Given the description of an element on the screen output the (x, y) to click on. 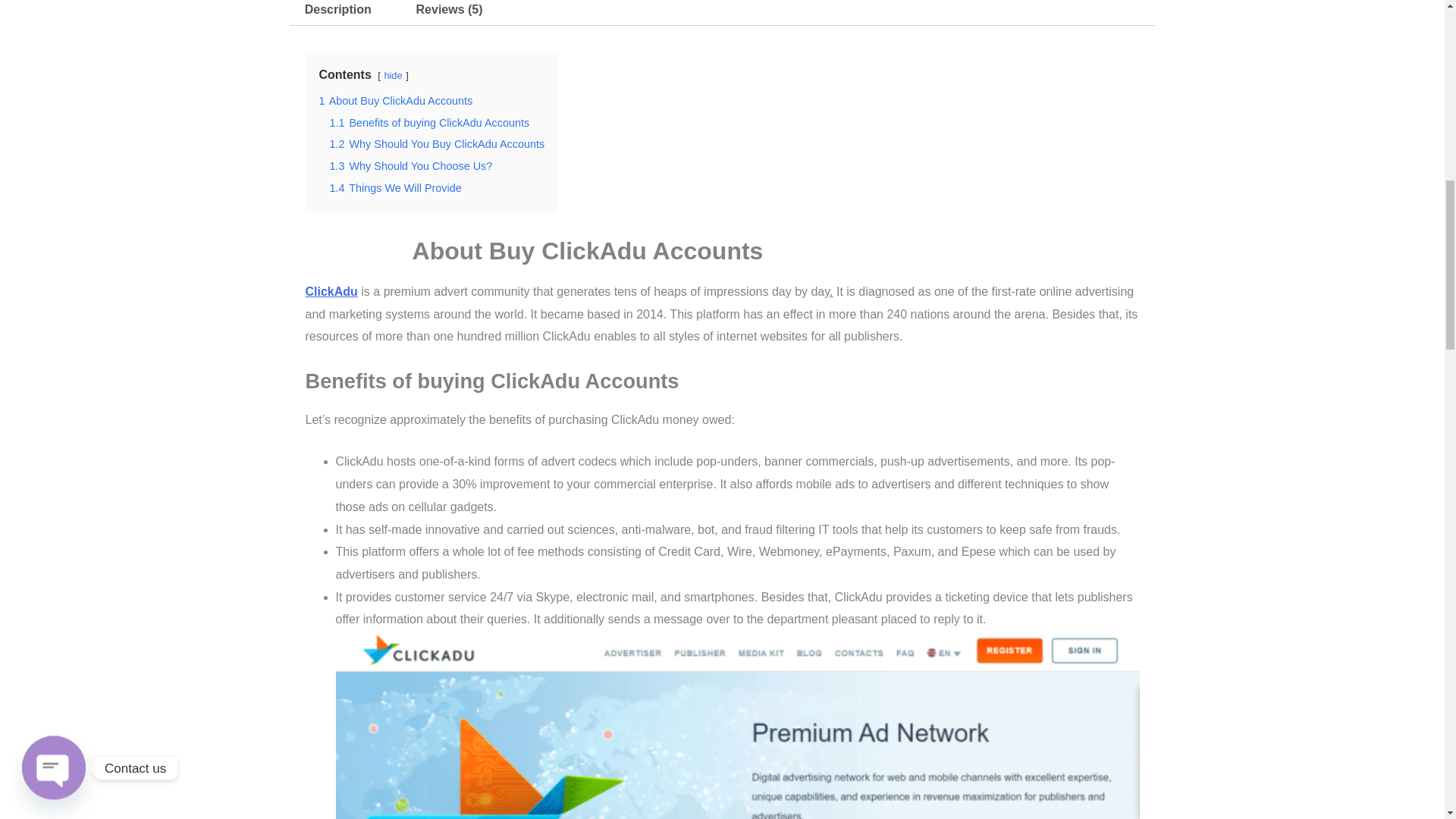
1 About Buy ClickAdu Accounts (394, 101)
Description (337, 13)
hide (392, 75)
1.1 Benefits of buying ClickAdu Accounts (429, 122)
